Given the description of an element on the screen output the (x, y) to click on. 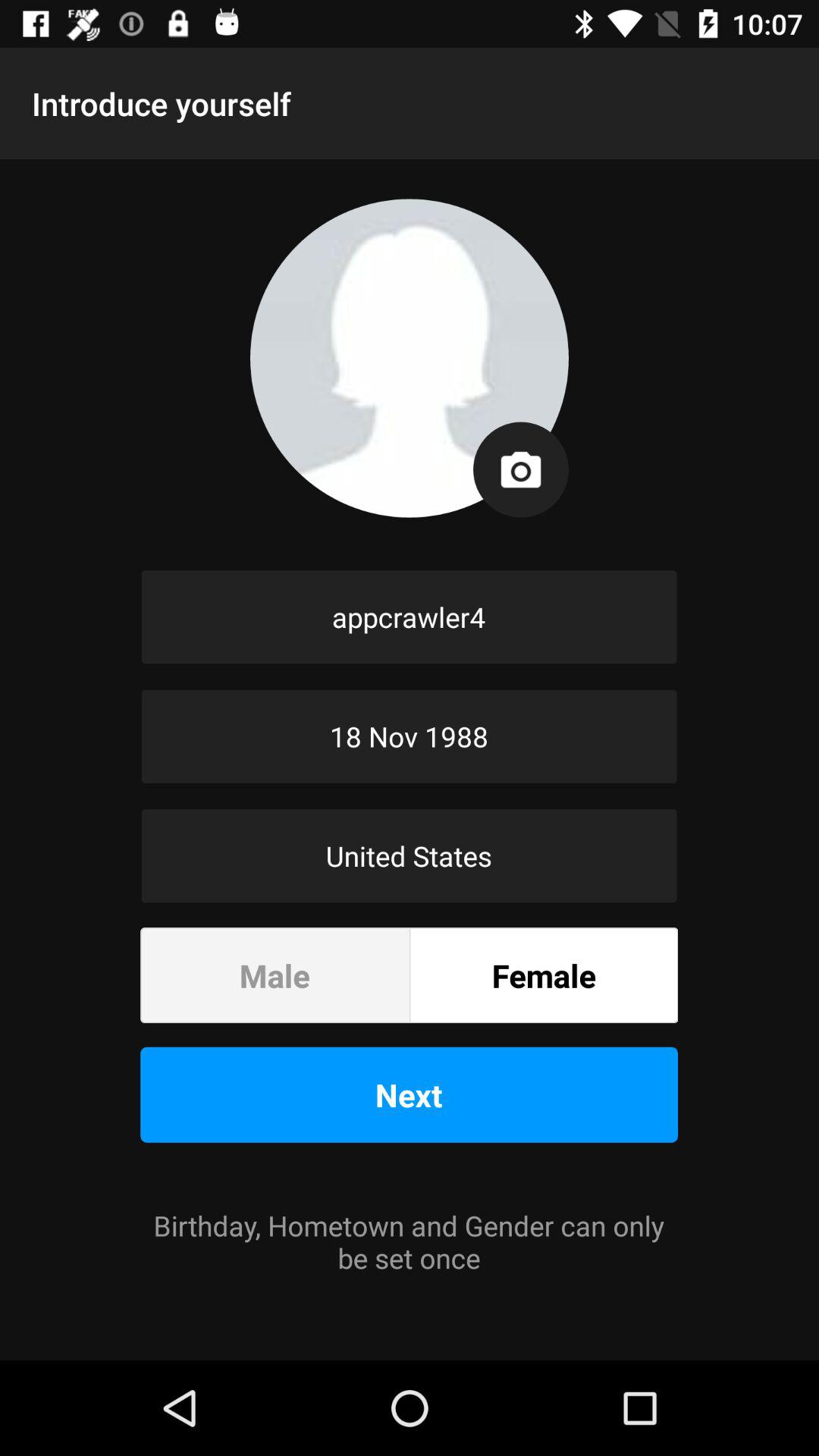
flip until female (543, 975)
